Given the description of an element on the screen output the (x, y) to click on. 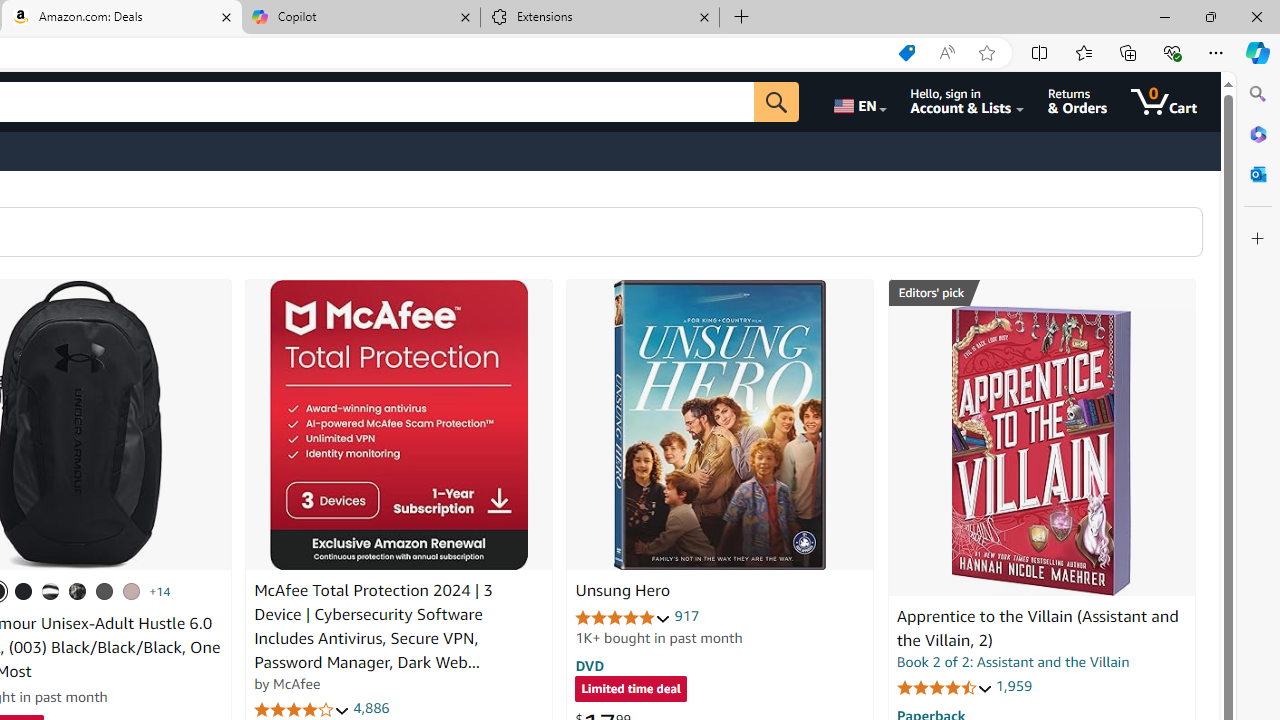
Hello, sign in Account & Lists (967, 101)
Apprentice to the Villain (Assistant and the Villain, 2) (1037, 628)
Limited time deal (630, 690)
Copilot (360, 17)
0 items in cart (1163, 101)
Shopping in Microsoft Edge (906, 53)
(004) Black / Black / Metallic Gold (78, 591)
Add this page to favorites (Ctrl+D) (986, 53)
+14 (159, 591)
Editors' pick Best Science Fiction & Fantasy (1041, 293)
(015) Tetra Gray / Tetra Gray / Gray Matter (131, 591)
Search (1258, 94)
DVD (589, 665)
